Given the description of an element on the screen output the (x, y) to click on. 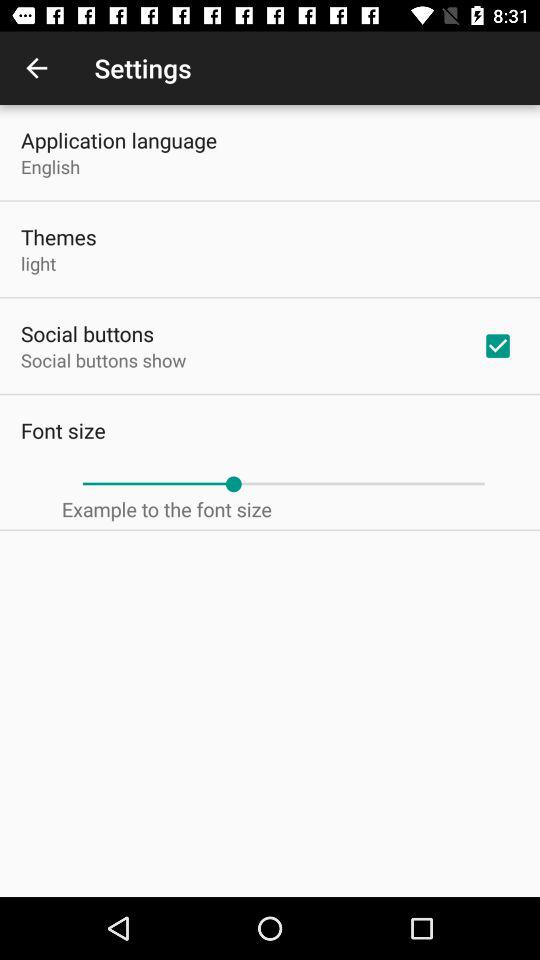
jump to the english icon (50, 166)
